Given the description of an element on the screen output the (x, y) to click on. 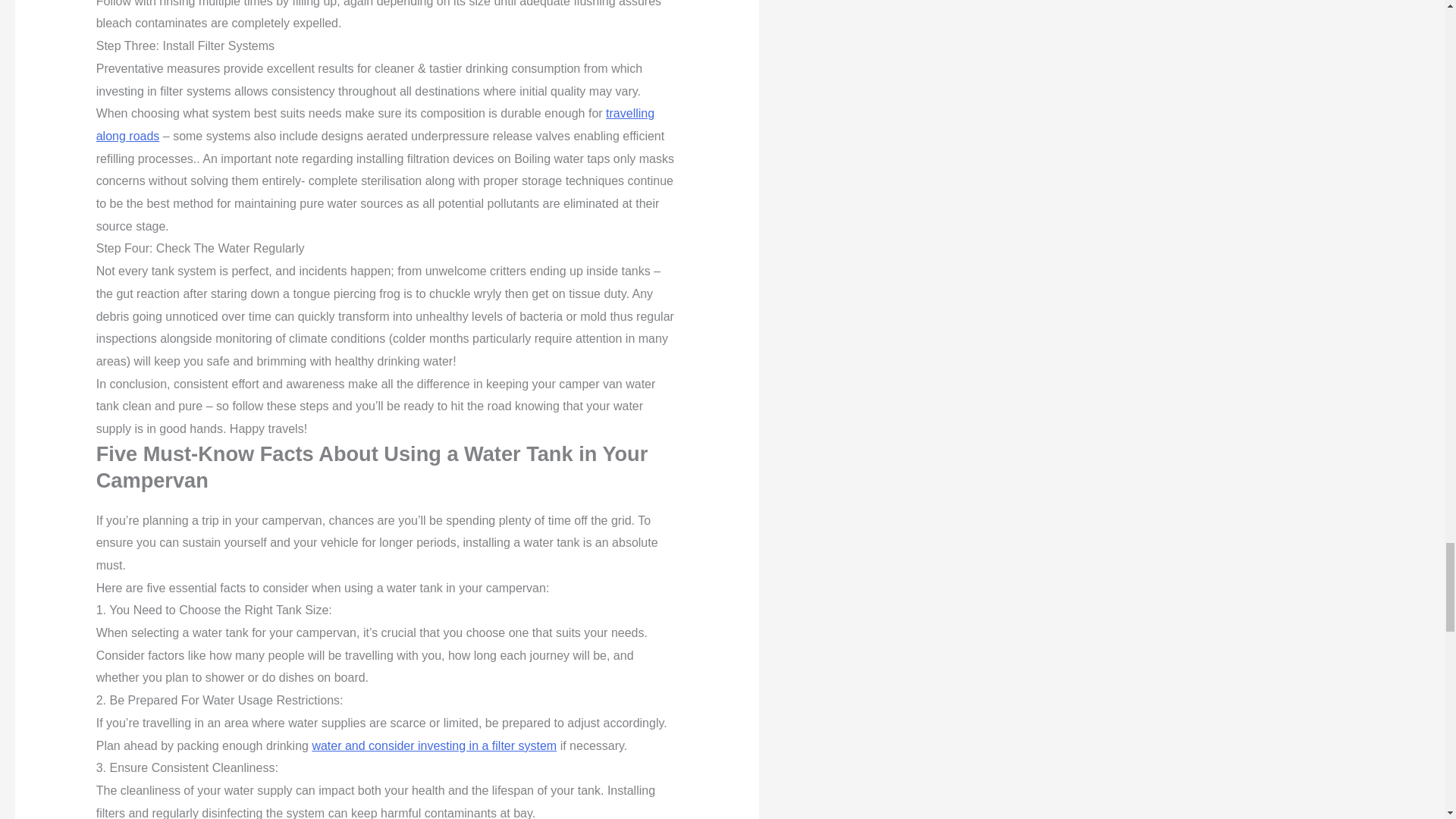
travelling along roads (374, 124)
